Given the description of an element on the screen output the (x, y) to click on. 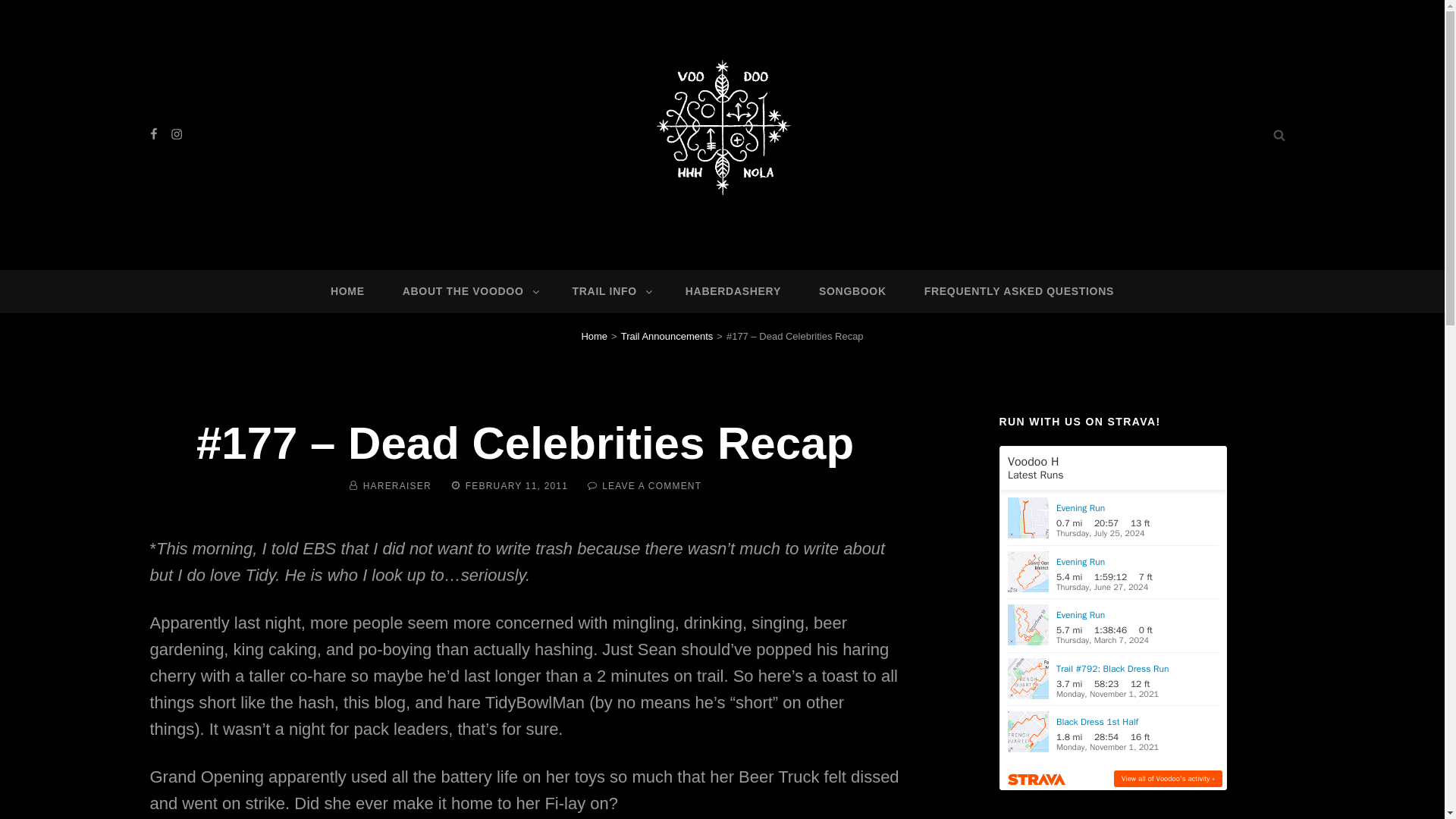
FEBRUARY 11, 2011 (516, 485)
Trail Announcements (667, 336)
Facebook (153, 135)
Instagram (176, 135)
Search (1278, 134)
VOODOO HASH HOUSE HARRIERS (767, 234)
ABOUT THE VOODOO (468, 291)
FREQUENTLY ASKED QUESTIONS (1018, 291)
HOME (347, 291)
TRAIL INFO (609, 291)
